Given the description of an element on the screen output the (x, y) to click on. 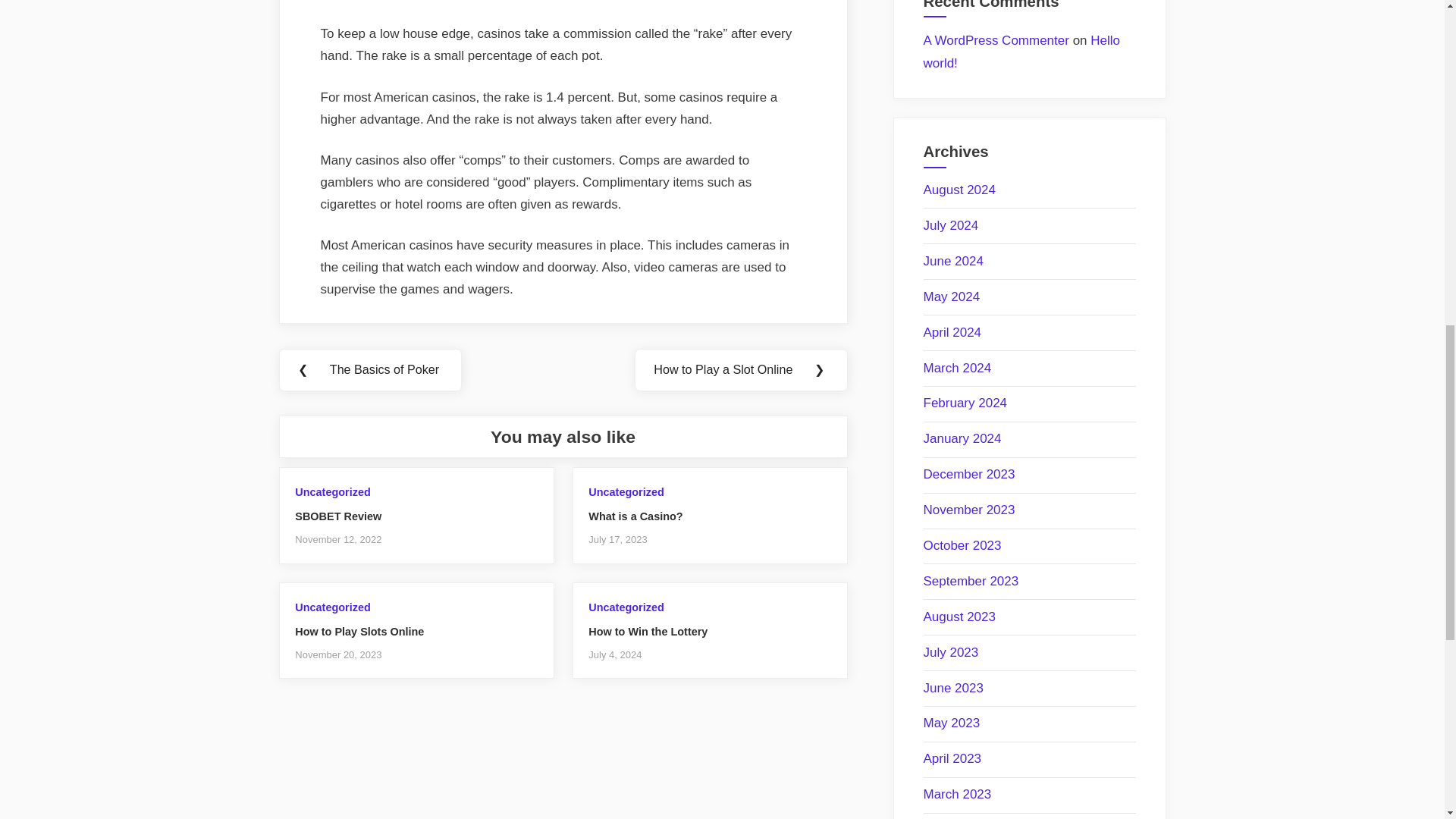
August 2024 (959, 189)
June 2024 (953, 260)
A WordPress Commenter (995, 40)
January 2024 (962, 438)
How to Play Slots Online (359, 631)
March 2024 (957, 368)
Uncategorized (625, 607)
Hello world! (1022, 52)
July 2024 (950, 225)
December 2023 (968, 473)
